Given the description of an element on the screen output the (x, y) to click on. 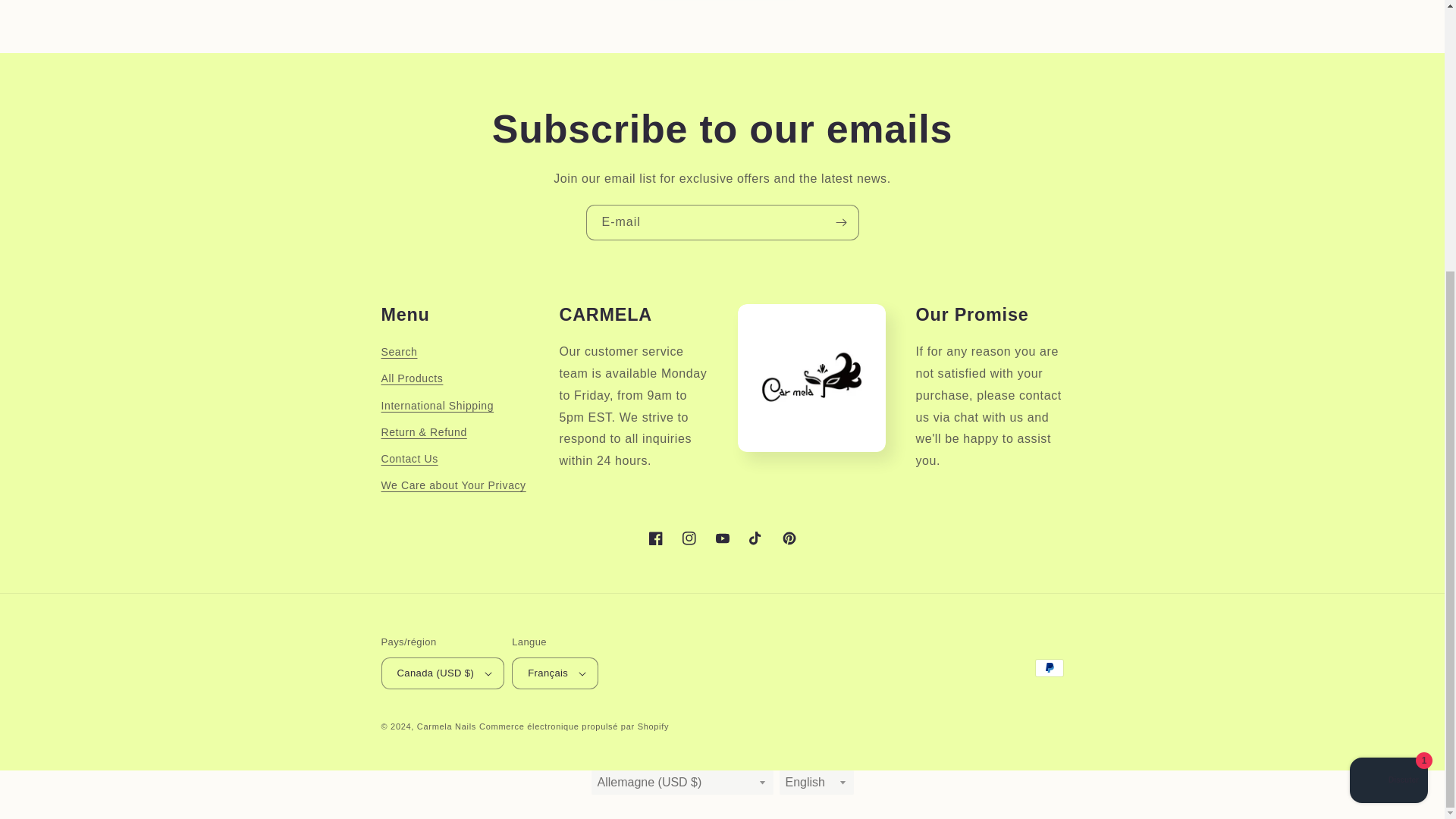
International Shipping (436, 406)
Chat de la boutique en ligne Shopify (1388, 383)
All Products (411, 378)
Instagram (687, 538)
Carmela Nails (446, 726)
Facebook (655, 538)
We Care about Your Privacy (452, 485)
Contact Us (409, 458)
Search (398, 354)
TikTok (754, 538)
Pinterest (788, 538)
YouTube (721, 538)
